Given the description of an element on the screen output the (x, y) to click on. 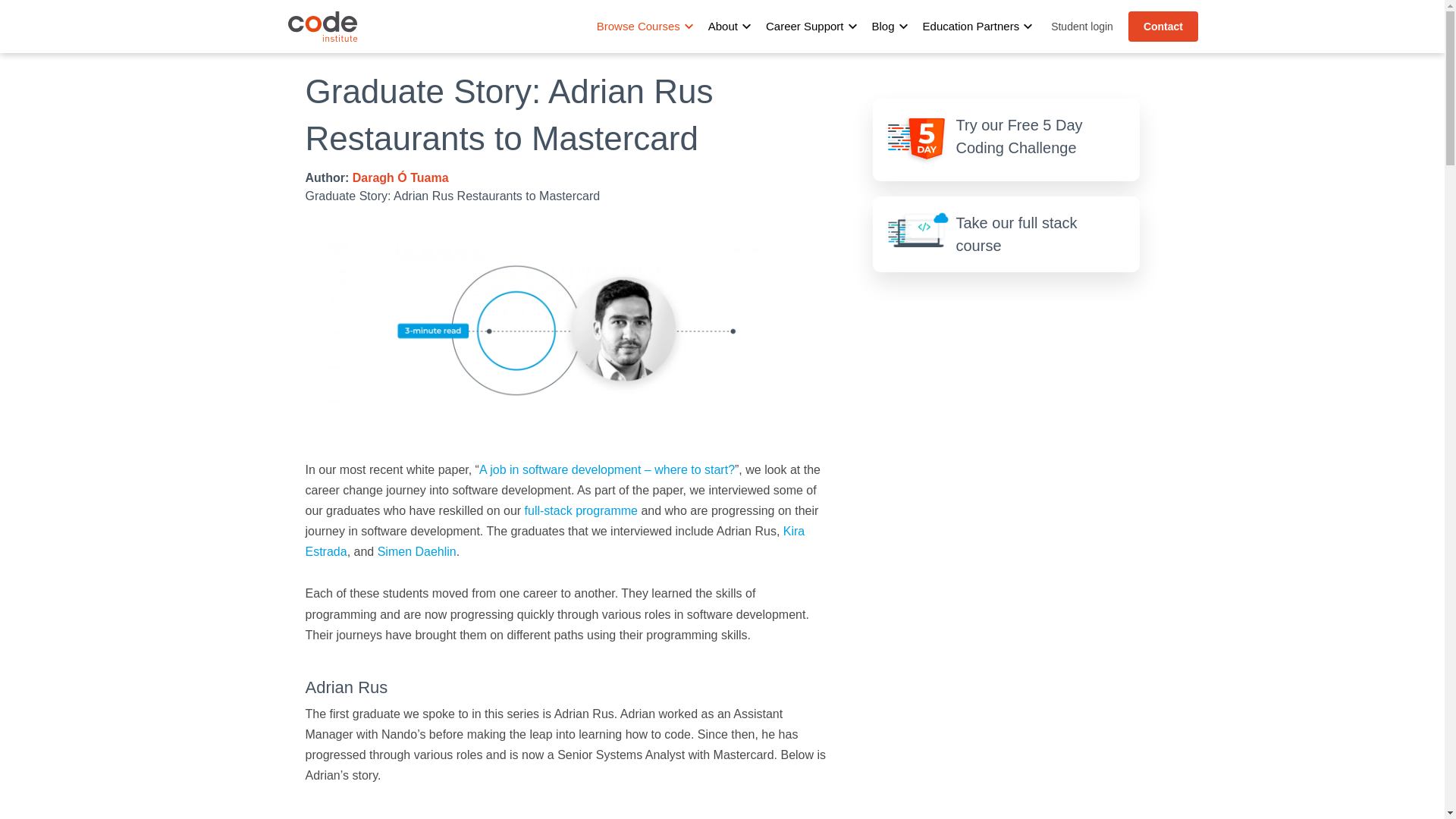
About (722, 25)
Career Support (804, 25)
Blog (883, 25)
Code Institute (321, 26)
Education Partners (971, 25)
Browse Courses (637, 25)
